Given the description of an element on the screen output the (x, y) to click on. 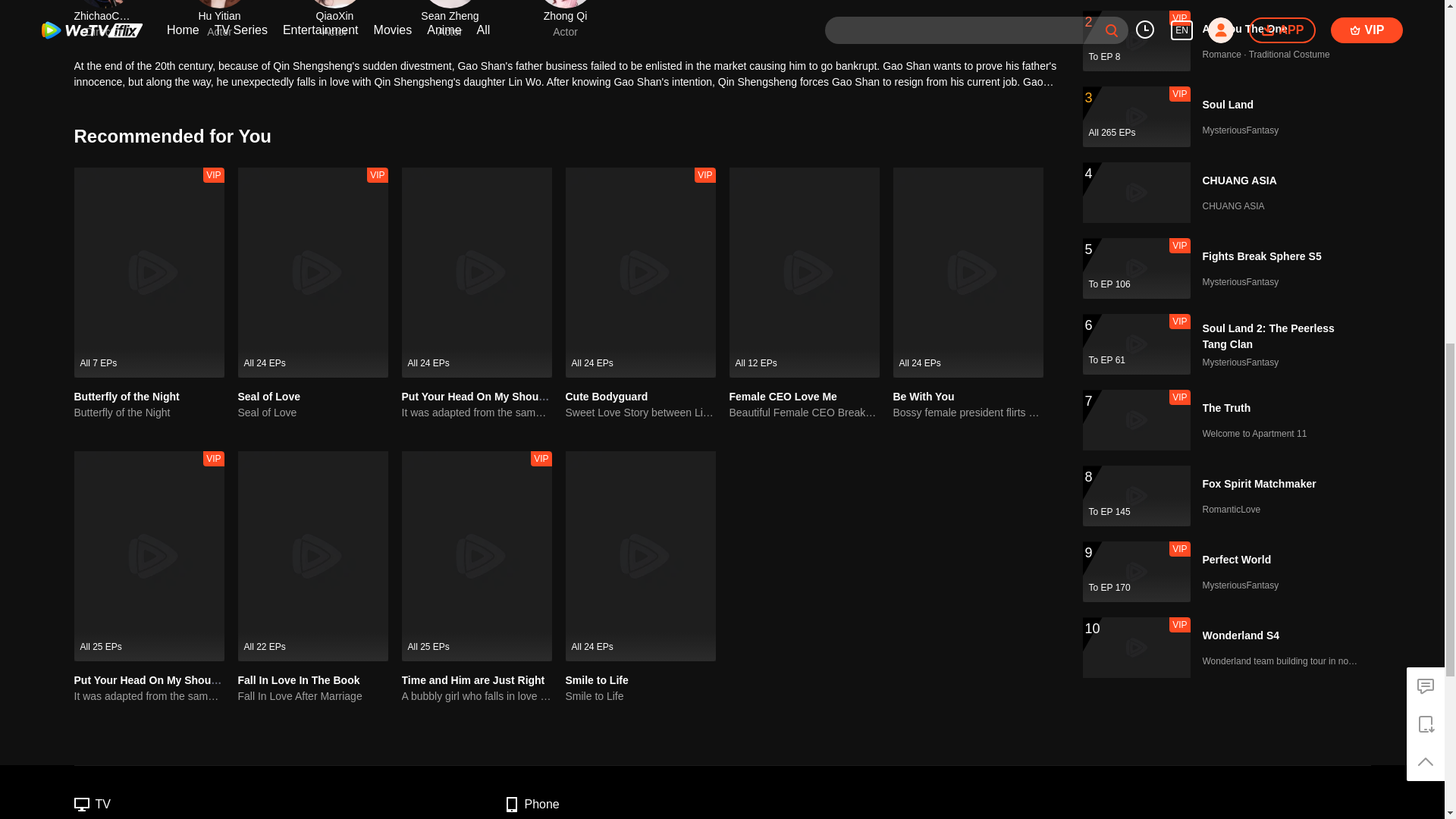
Sweet Love Story between Ling Meishi and Liu Te (641, 412)
Butterfly of the Night (126, 396)
Beautiful Female CEO Breaks the Heart of Salesman (804, 412)
Female CEO Love Me (783, 396)
Bossy female president flirts with arrogant childe. (968, 412)
Seal of Love (313, 412)
Put Your Head On My Shoulder (152, 680)
Butterfly of the Night (149, 412)
